Given the description of an element on the screen output the (x, y) to click on. 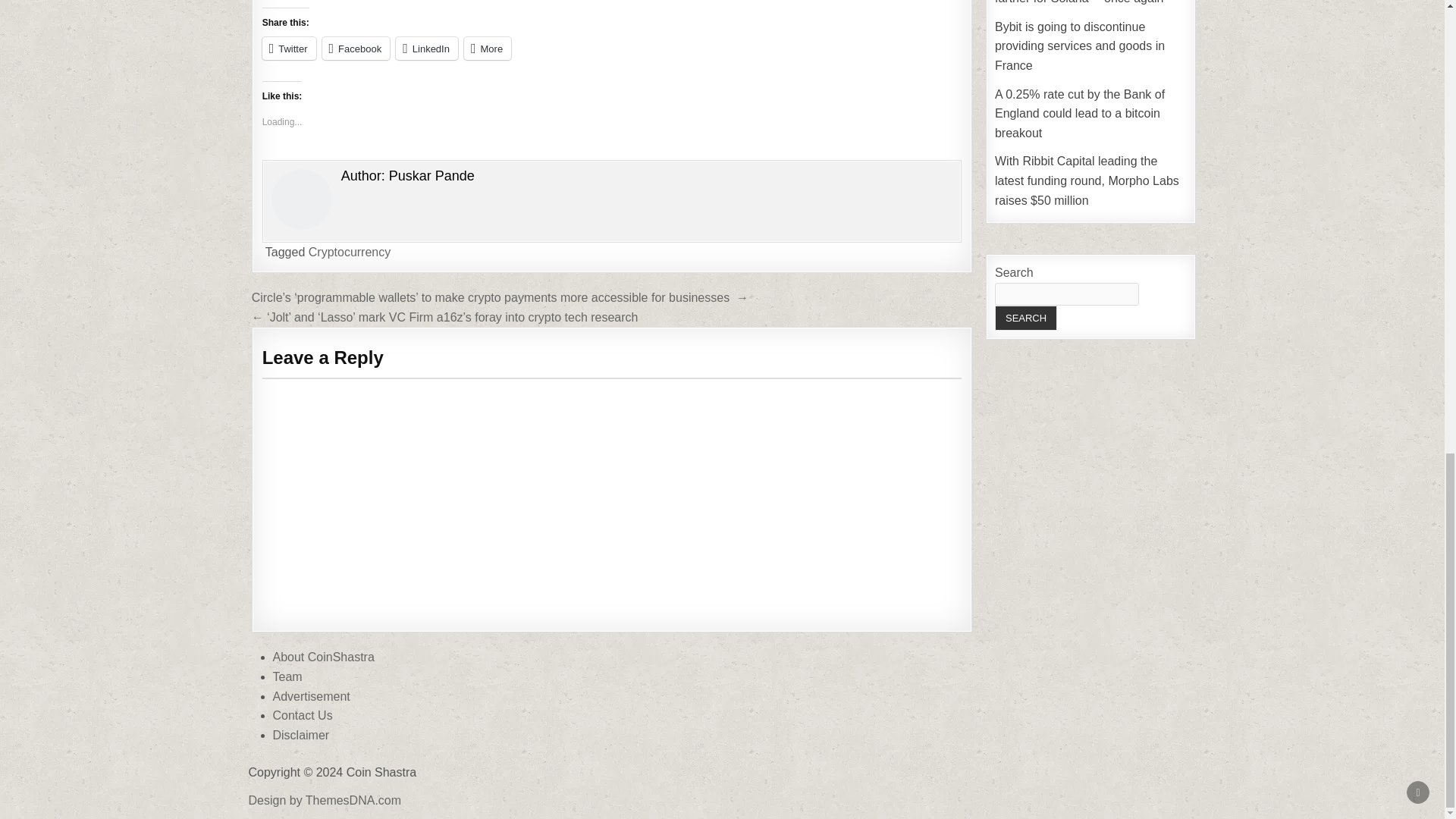
Click to share on Twitter (288, 47)
LinkedIn (427, 47)
Puskar Pande (431, 175)
Facebook (355, 47)
Twitter (288, 47)
Click to share on LinkedIn (427, 47)
Cryptocurrency (349, 251)
More (487, 47)
Click to share on Facebook (355, 47)
